Given the description of an element on the screen output the (x, y) to click on. 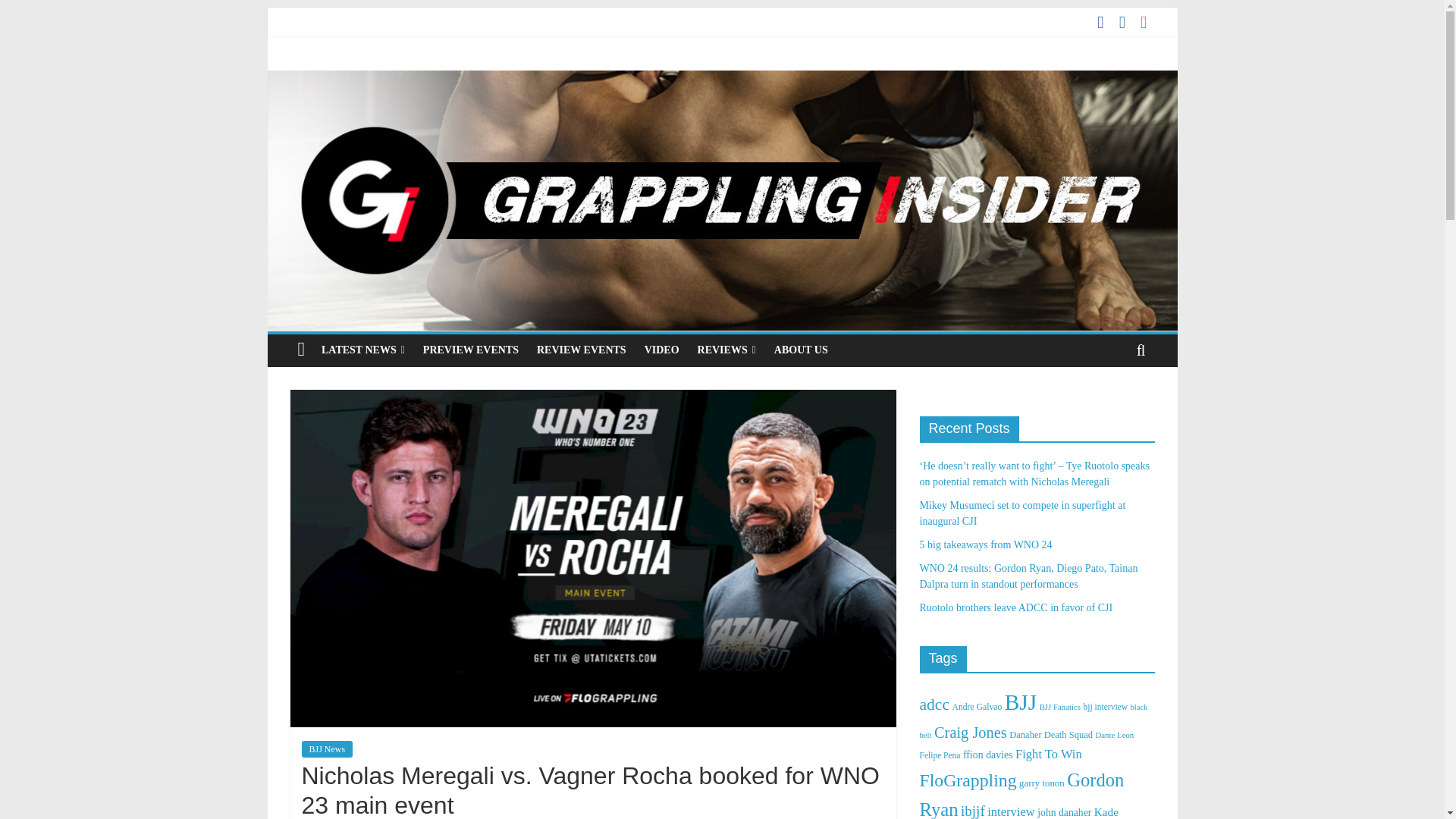
VIDEO (661, 350)
PREVIEW EVENTS (470, 350)
BJJ News (327, 749)
LATEST NEWS (363, 350)
Grappling Insider (301, 350)
Grappling Insider (721, 79)
REVIEW EVENTS (580, 350)
REVIEWS (726, 350)
ABOUT US (801, 350)
